Given the description of an element on the screen output the (x, y) to click on. 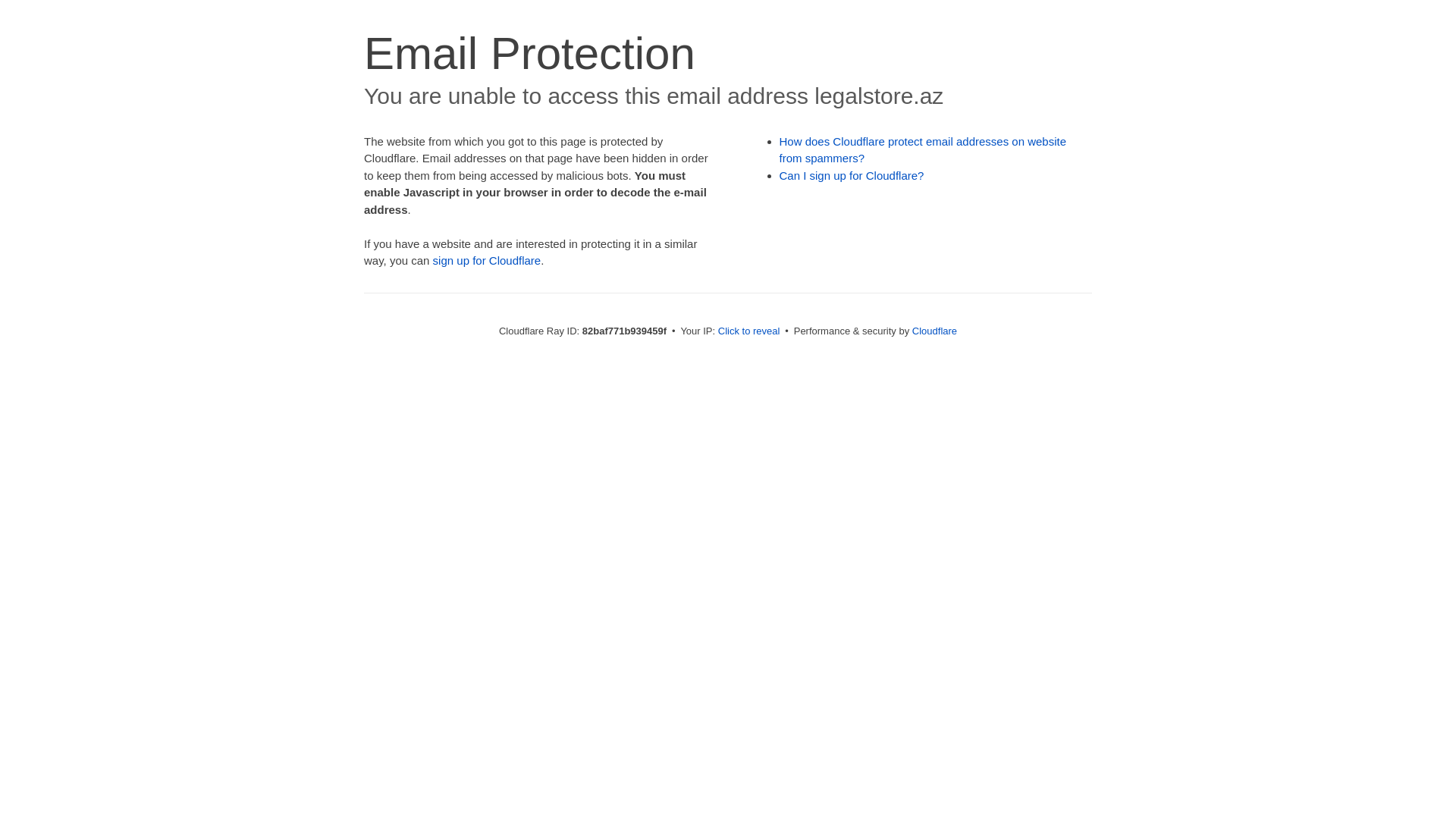
sign up for Cloudflare Element type: text (487, 260)
Click to reveal Element type: text (749, 330)
Cloudflare Element type: text (934, 330)
Can I sign up for Cloudflare? Element type: text (851, 175)
